Given the description of an element on the screen output the (x, y) to click on. 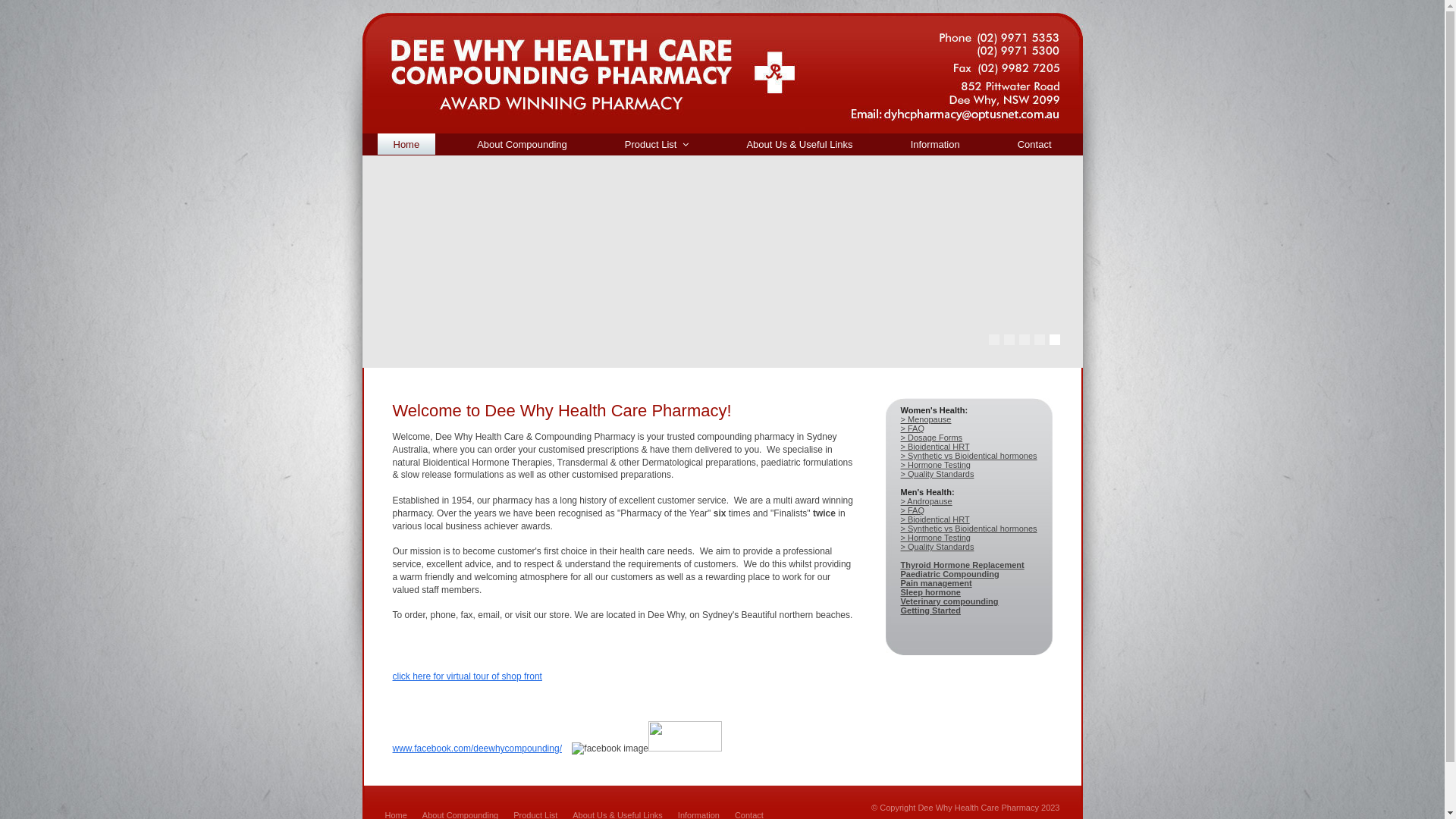
> Synthetic vs Bioidentical hormones Element type: text (968, 455)
> Quality Standards Element type: text (937, 546)
Product List Element type: text (656, 144)
> Hormone Testing Element type: text (935, 464)
> FAQ Element type: text (912, 428)
Home Element type: text (406, 144)
About Us & Useful Links Element type: text (799, 144)
Sleep hormone Element type: text (930, 591)
> Bioidentical HRT Element type: text (934, 519)
> Synthetic vs Bioidentical hormones Element type: text (968, 528)
Pain management Element type: text (936, 582)
www.facebook.com/deewhycompounding/ Element type: text (476, 748)
> Andropause Element type: text (926, 500)
> FAQ Element type: text (912, 509)
About Compounding Element type: text (522, 144)
Getting Started Element type: text (930, 610)
Information Element type: text (934, 144)
> Quality Standards Element type: text (937, 473)
click here for virtual tour of shop front Element type: text (467, 676)
Paediatric Compounding Element type: text (949, 573)
> Bioidentical HRT Element type: text (934, 446)
Thyroid Hormone Replacement Element type: text (962, 564)
> Hormone Testing Element type: text (935, 537)
> Dosage Forms Element type: text (931, 437)
> Menopause Element type: text (925, 418)
Veterinary compounding Element type: text (949, 600)
Contact Element type: text (1034, 144)
